Given the description of an element on the screen output the (x, y) to click on. 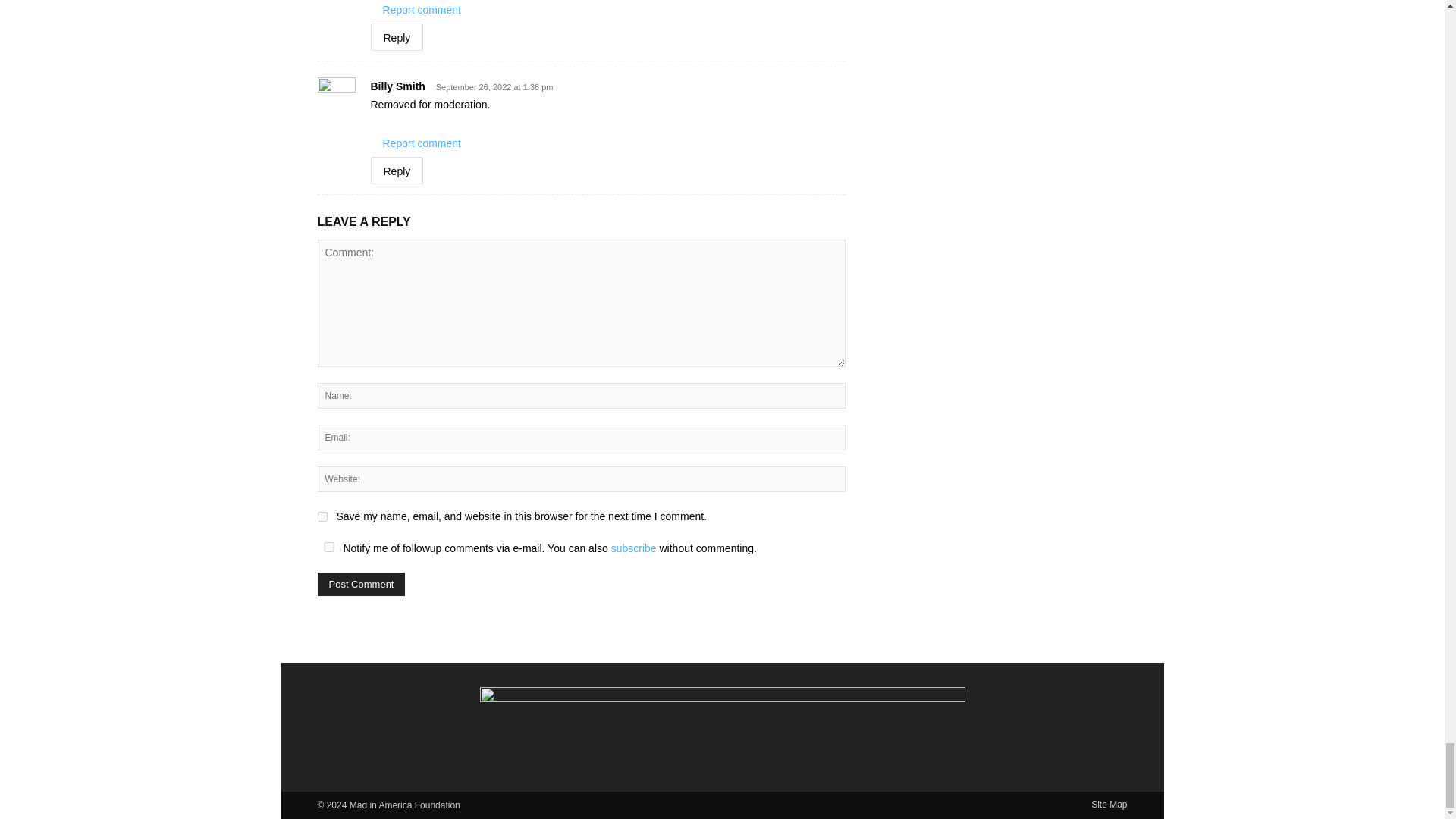
yes (328, 547)
yes (321, 516)
Post Comment (360, 584)
